Given the description of an element on the screen output the (x, y) to click on. 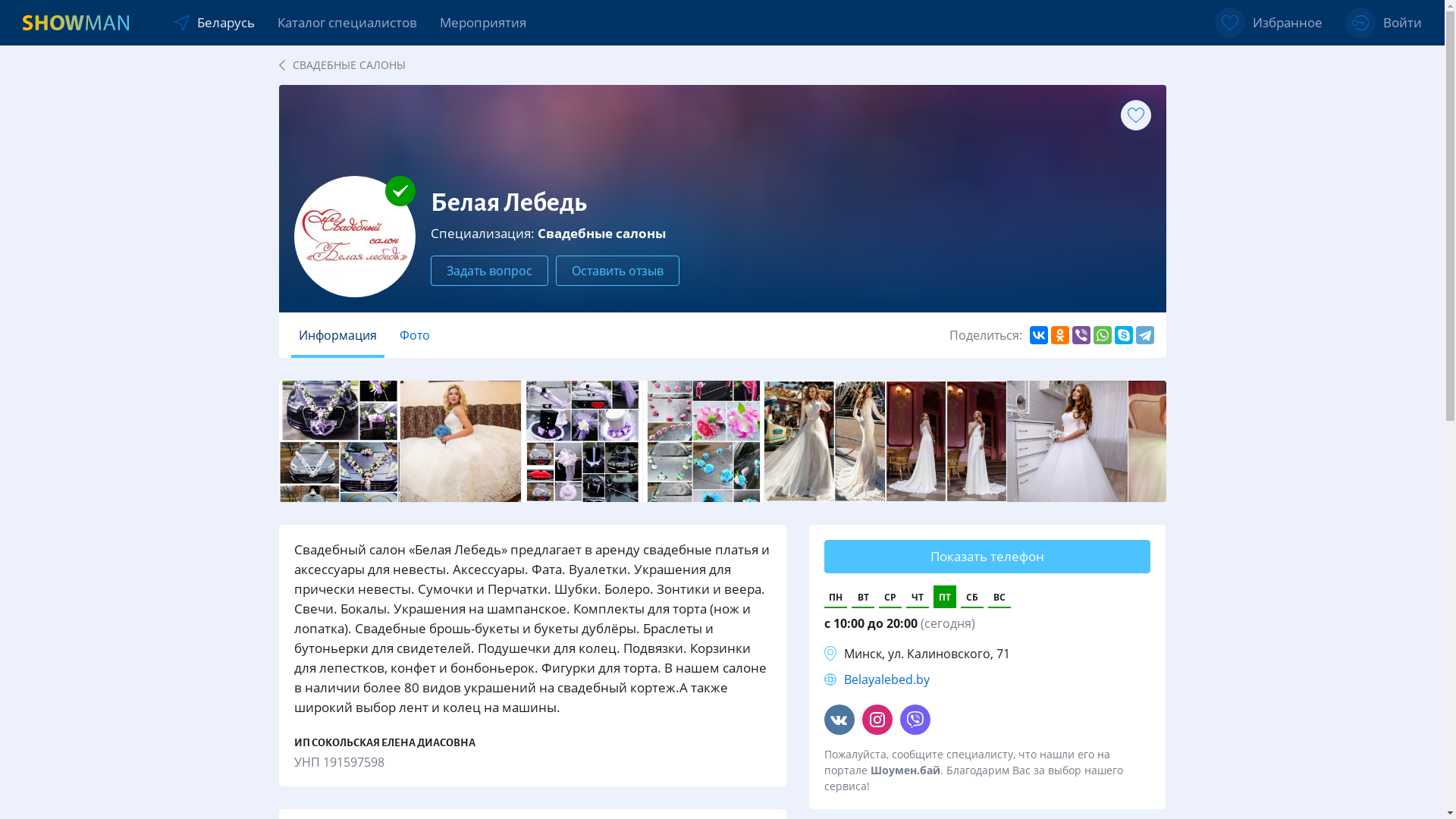
Viber Element type: hover (1081, 335)
Belayalebed.by Element type: text (886, 679)
WhatsApp Element type: hover (1102, 335)
Skype Element type: hover (1123, 335)
Telegram Element type: hover (1144, 335)
